Given the description of an element on the screen output the (x, y) to click on. 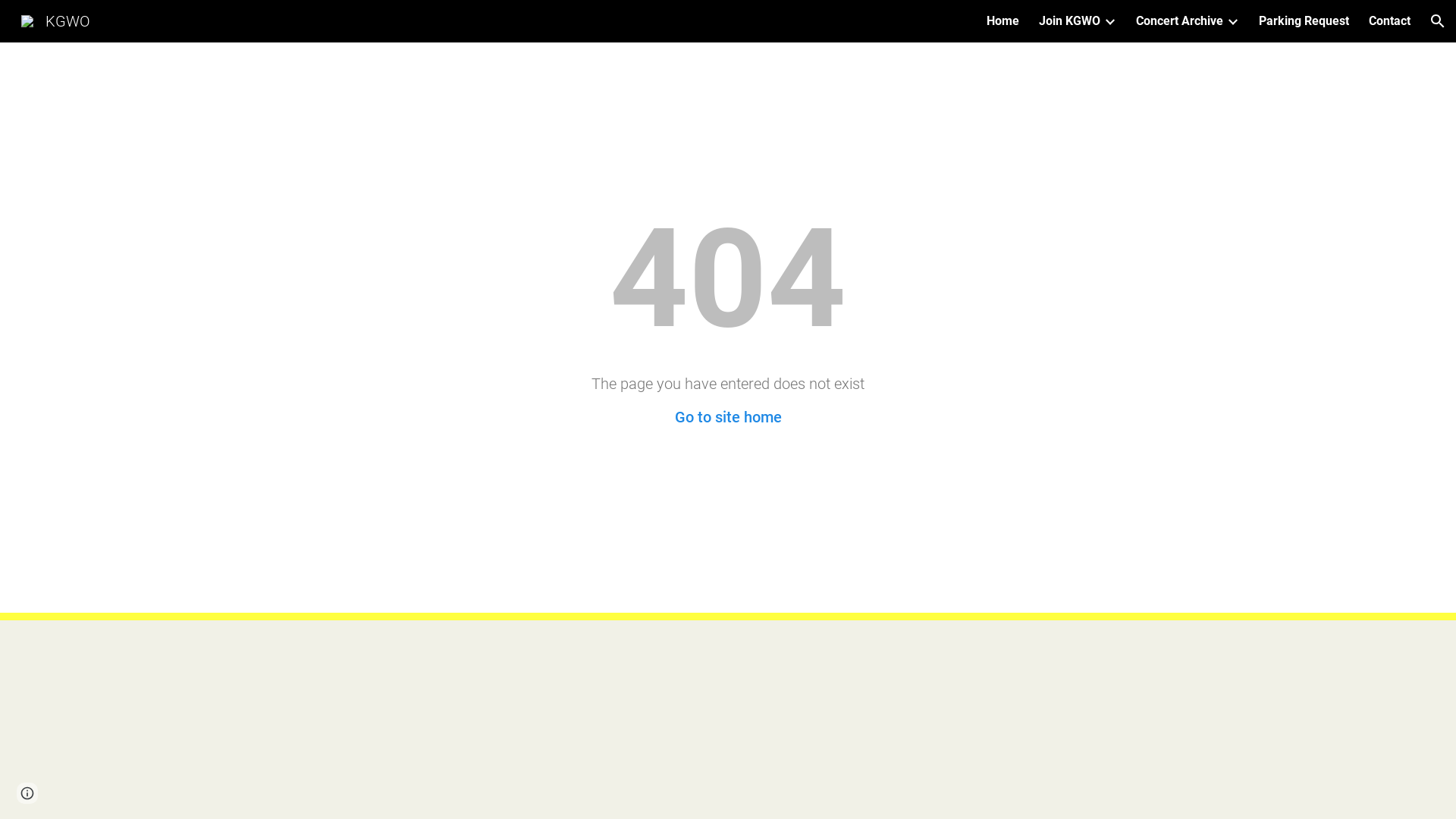
Expand/Collapse Element type: hover (1232, 20)
Concert Archive Element type: text (1179, 20)
Contact Element type: text (1389, 20)
KGWO Element type: text (55, 19)
Go to site home Element type: text (727, 416)
Expand/Collapse Element type: hover (1109, 20)
Join KGWO Element type: text (1069, 20)
Parking Request Element type: text (1303, 20)
Home Element type: text (1002, 20)
